Given the description of an element on the screen output the (x, y) to click on. 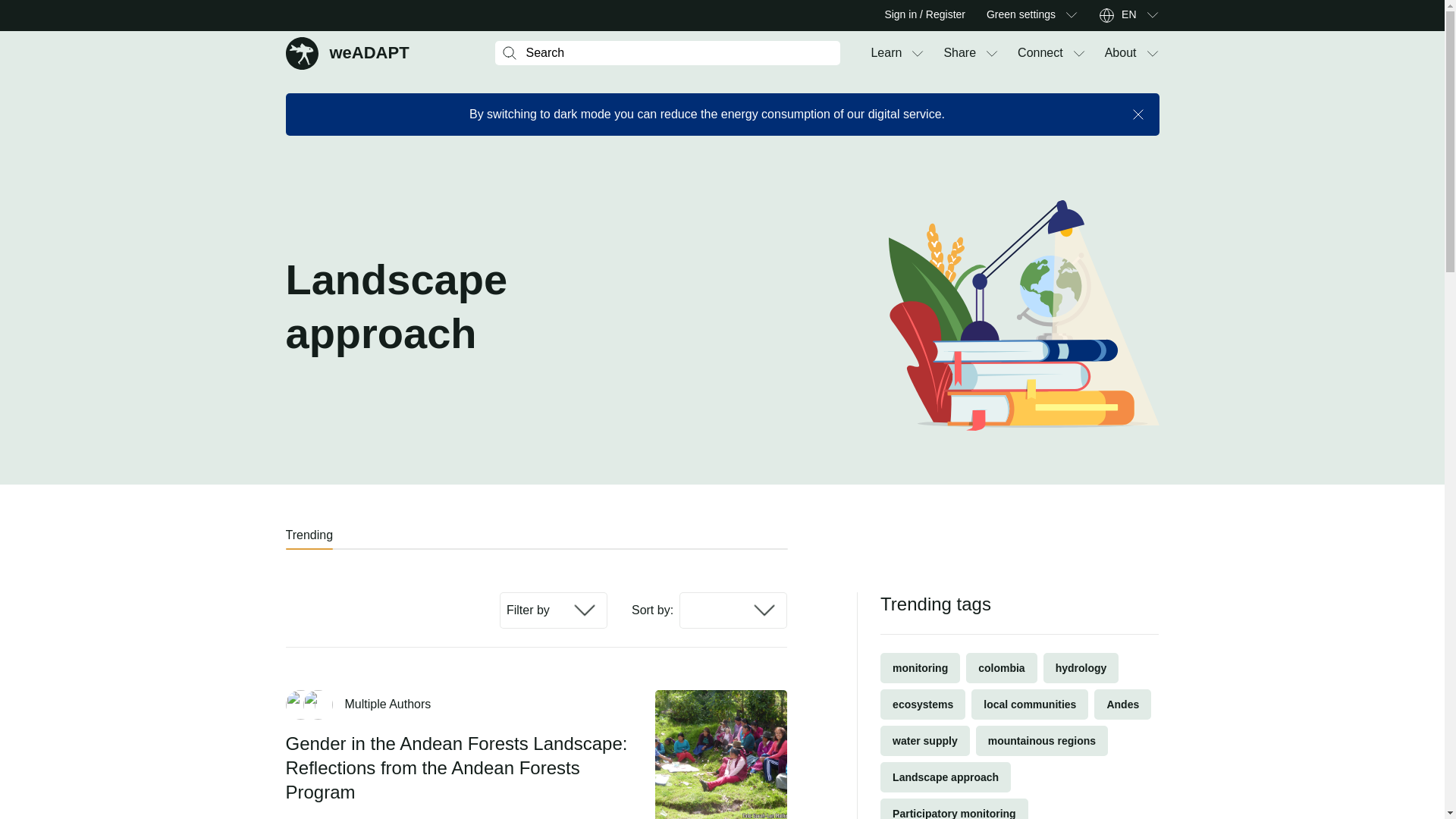
Share (959, 53)
EN (1128, 14)
Translate Submenu (1151, 14)
Green settings (1021, 14)
Learn (347, 52)
Connect (885, 53)
Submenu (1039, 53)
About (1071, 14)
